Given the description of an element on the screen output the (x, y) to click on. 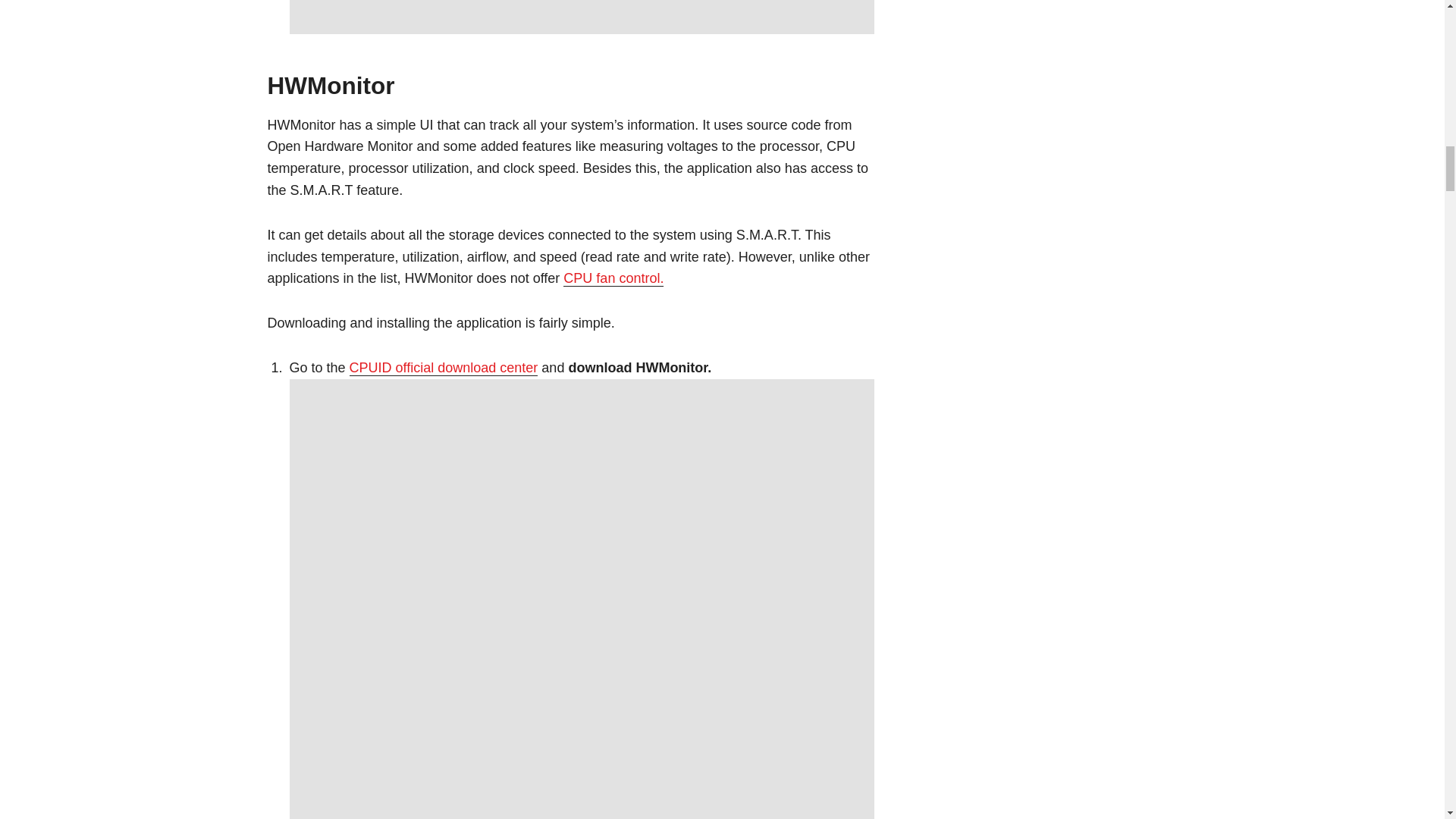
8 Best Tools To Monitor CPU Temperature 17 (582, 17)
